Given the description of an element on the screen output the (x, y) to click on. 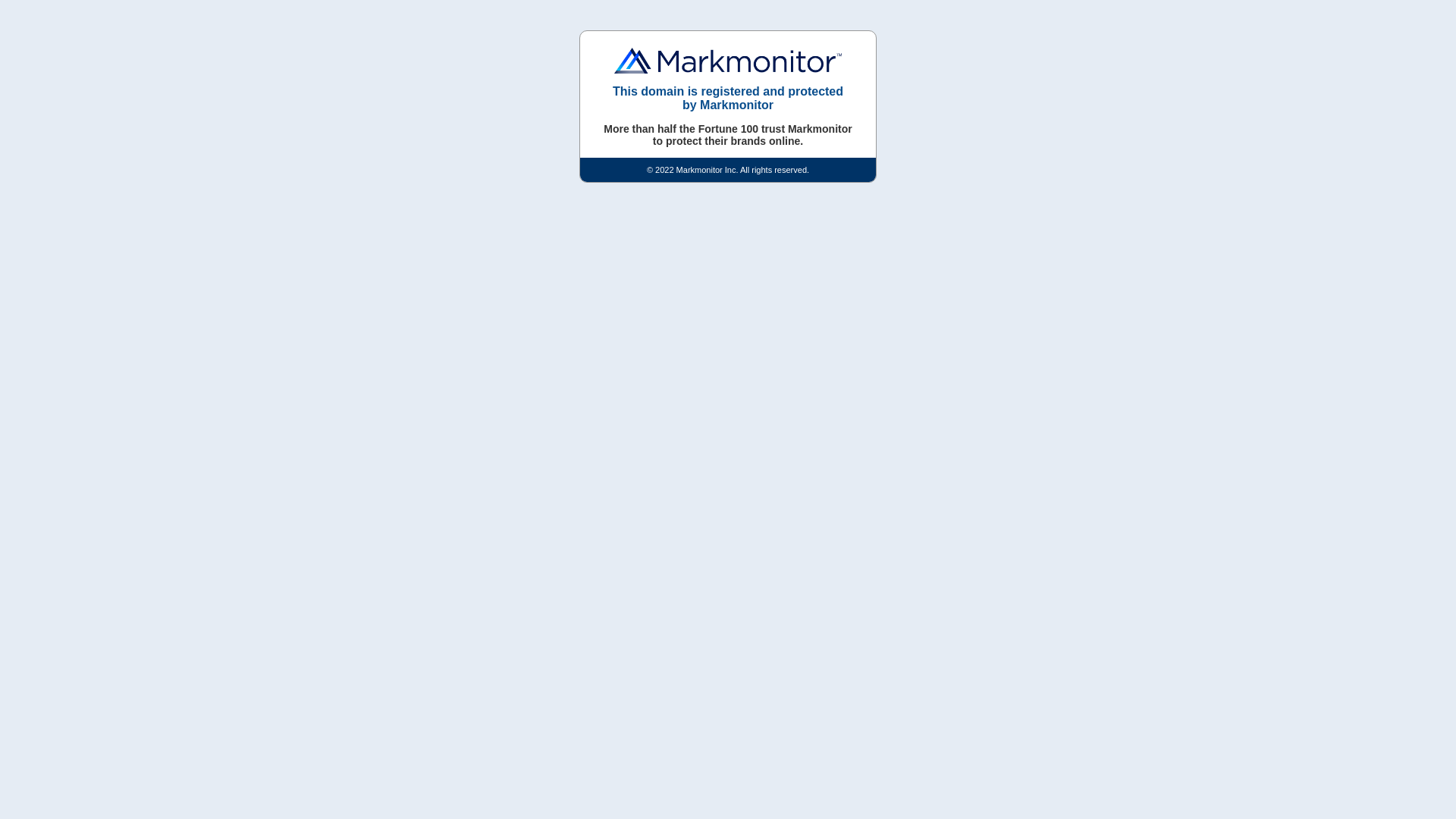
Markmonitor Element type: hover (727, 60)
